Given the description of an element on the screen output the (x, y) to click on. 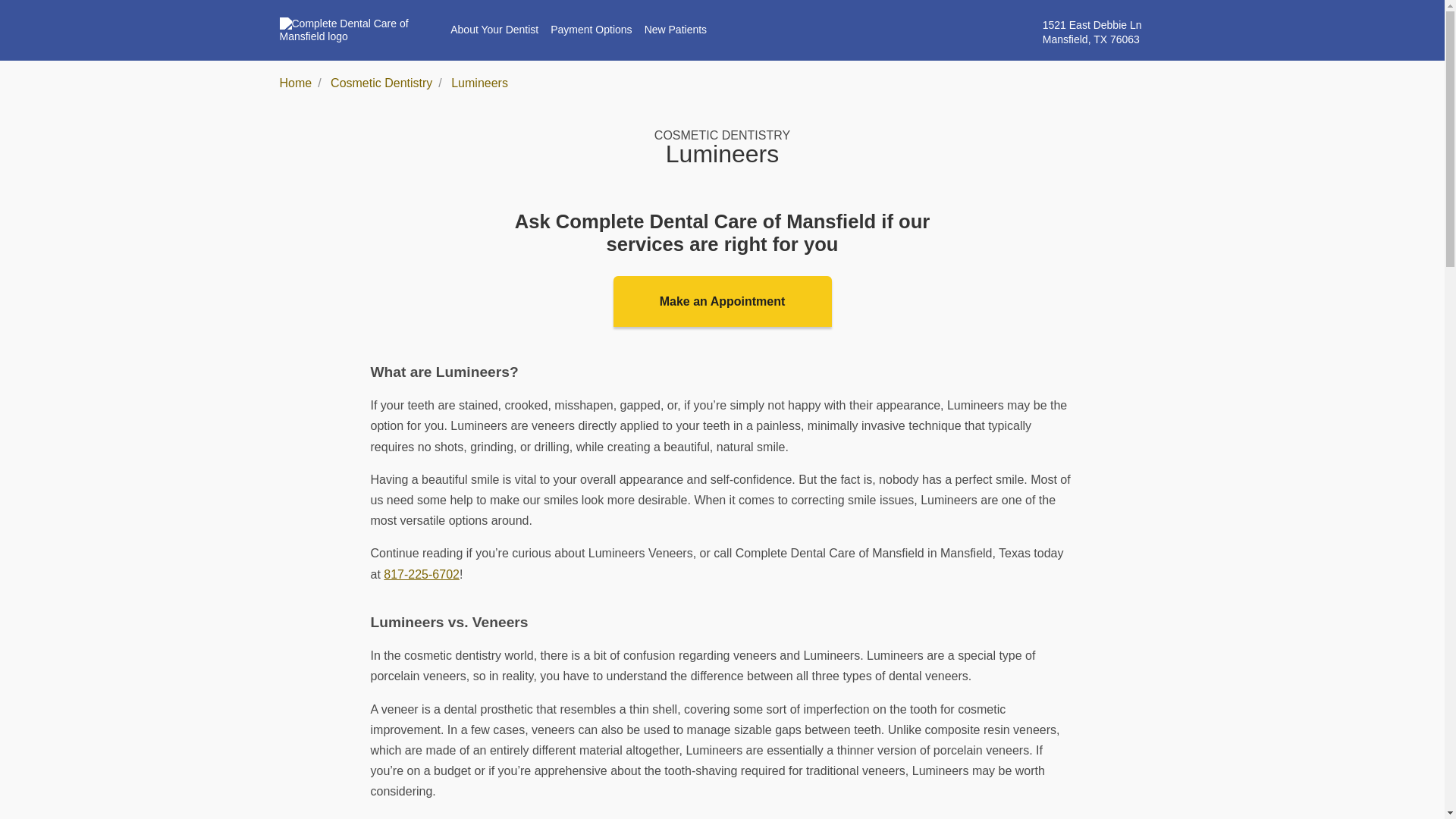
Payment Options (590, 29)
Home (295, 82)
Make an Appointment (721, 301)
Cosmetic Dentistry (381, 82)
Lumineers (479, 82)
817-225-6702 (1104, 31)
New Patients (422, 573)
About Your Dentist (675, 29)
